Given the description of an element on the screen output the (x, y) to click on. 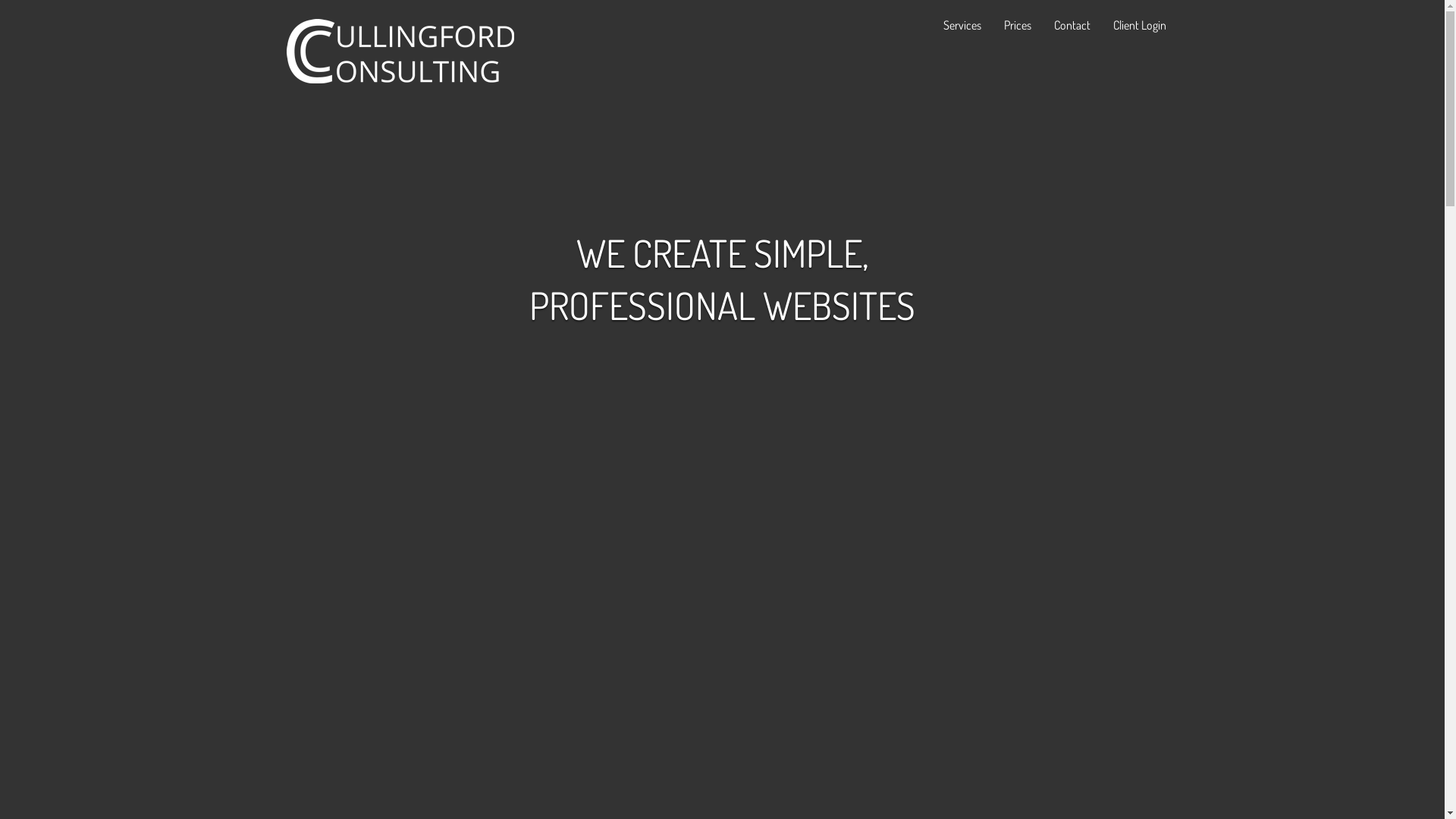
Contact Element type: text (1071, 23)
Prices Element type: text (1016, 23)
Client Login Element type: text (1138, 23)
Services Element type: text (961, 23)
Cullingford Consulting Element type: hover (400, 50)
